Given the description of an element on the screen output the (x, y) to click on. 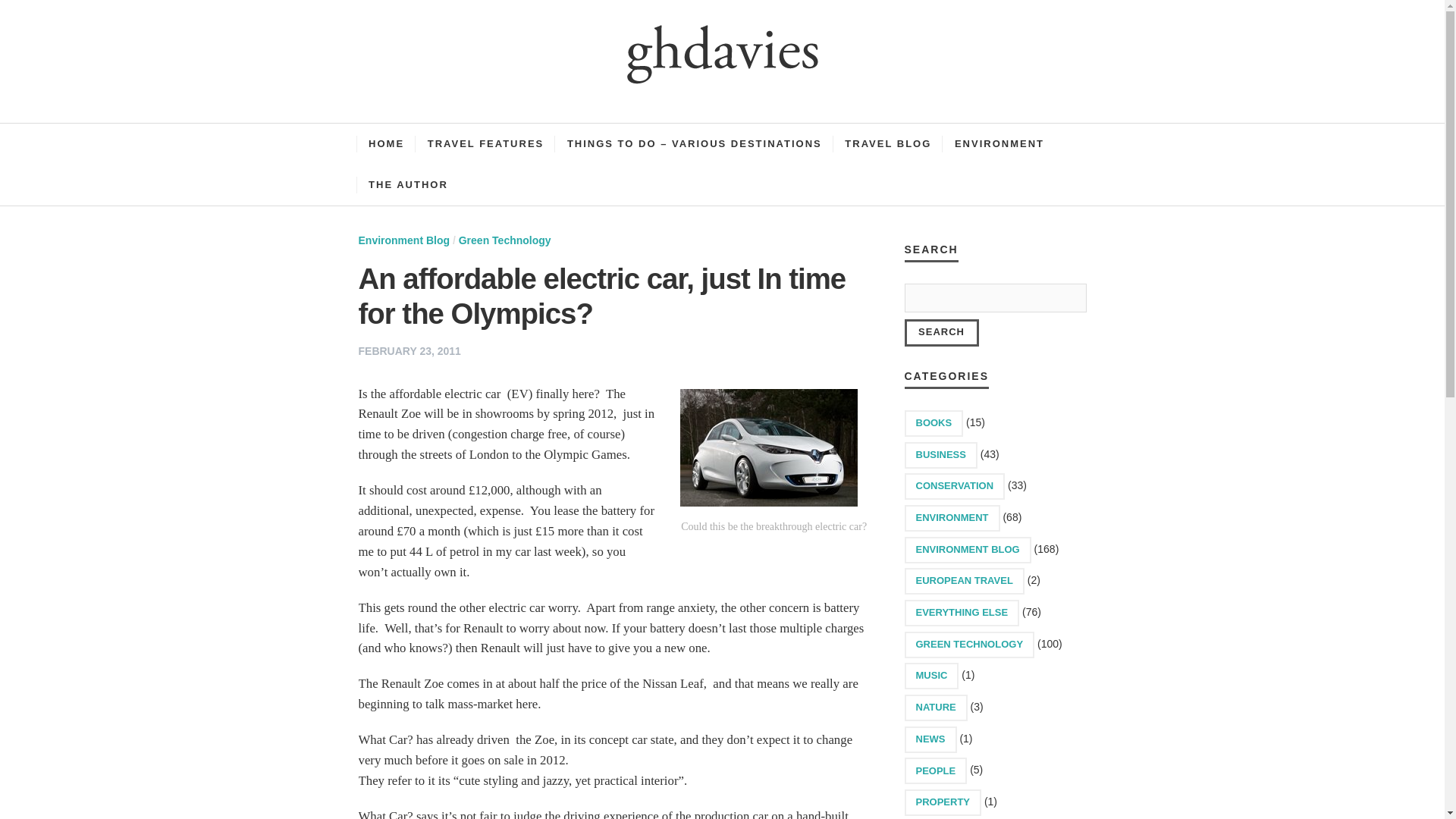
Search (941, 332)
Search (941, 332)
EVERYTHING ELSE (961, 612)
THE AUTHOR (408, 184)
ENVIRONMENT (998, 143)
ENVIRONMENT (951, 518)
Search (941, 332)
NEWS (930, 739)
EUROPEAN TRAVEL (963, 581)
HOME (386, 143)
